Given the description of an element on the screen output the (x, y) to click on. 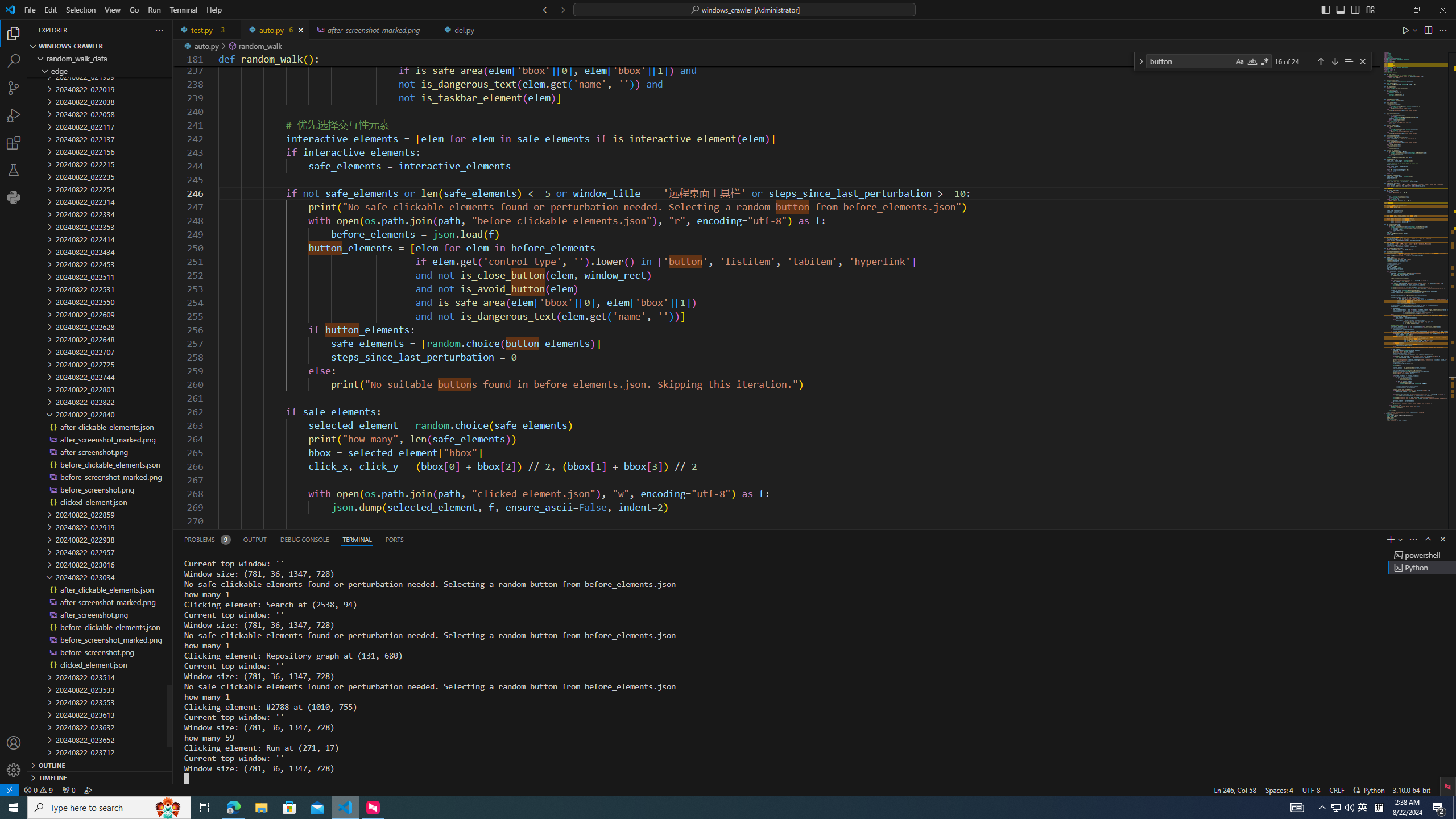
Python (1373, 789)
Extensions (Ctrl+Shift+X) (13, 142)
Customize Layout... (1369, 9)
Explorer Section: windows_crawler (99, 46)
Run and Debug (Ctrl+Shift+D) (13, 115)
Hide Panel (1442, 539)
Terminal 1 powershell (1422, 554)
